Given the description of an element on the screen output the (x, y) to click on. 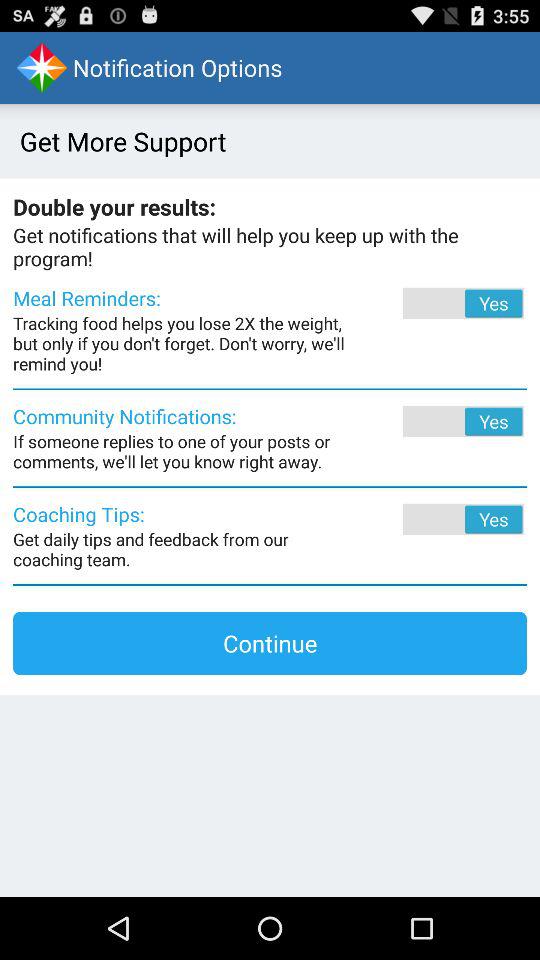
launch the item next to community notifications: app (436, 421)
